Given the description of an element on the screen output the (x, y) to click on. 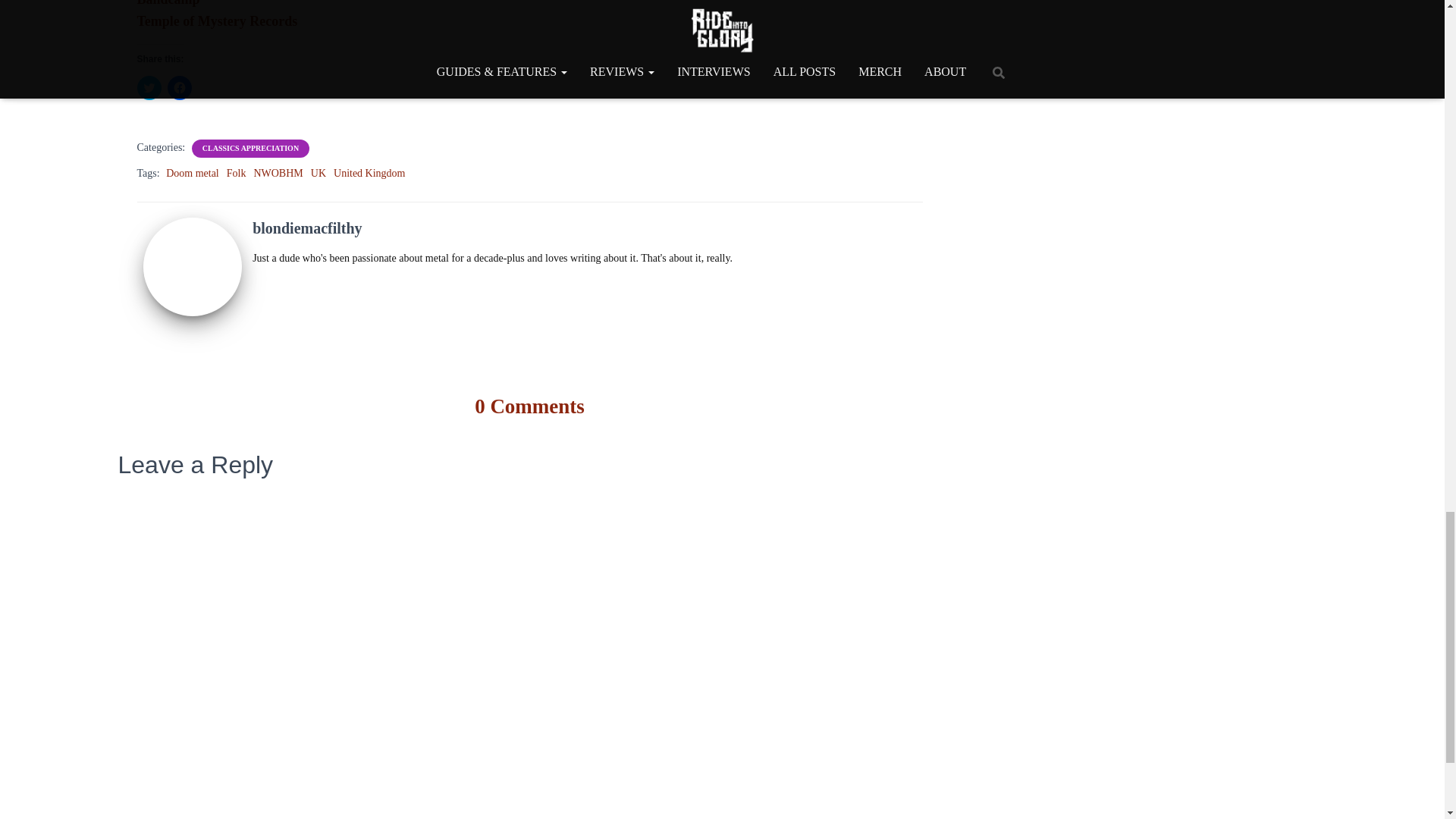
UK (318, 173)
Folk (236, 173)
Doom metal (192, 173)
Temple of Mystery Records (216, 20)
Bandcamp (167, 3)
United Kingdom (369, 173)
NWOBHM (277, 173)
CLASSICS APPRECIATION (249, 148)
